Given the description of an element on the screen output the (x, y) to click on. 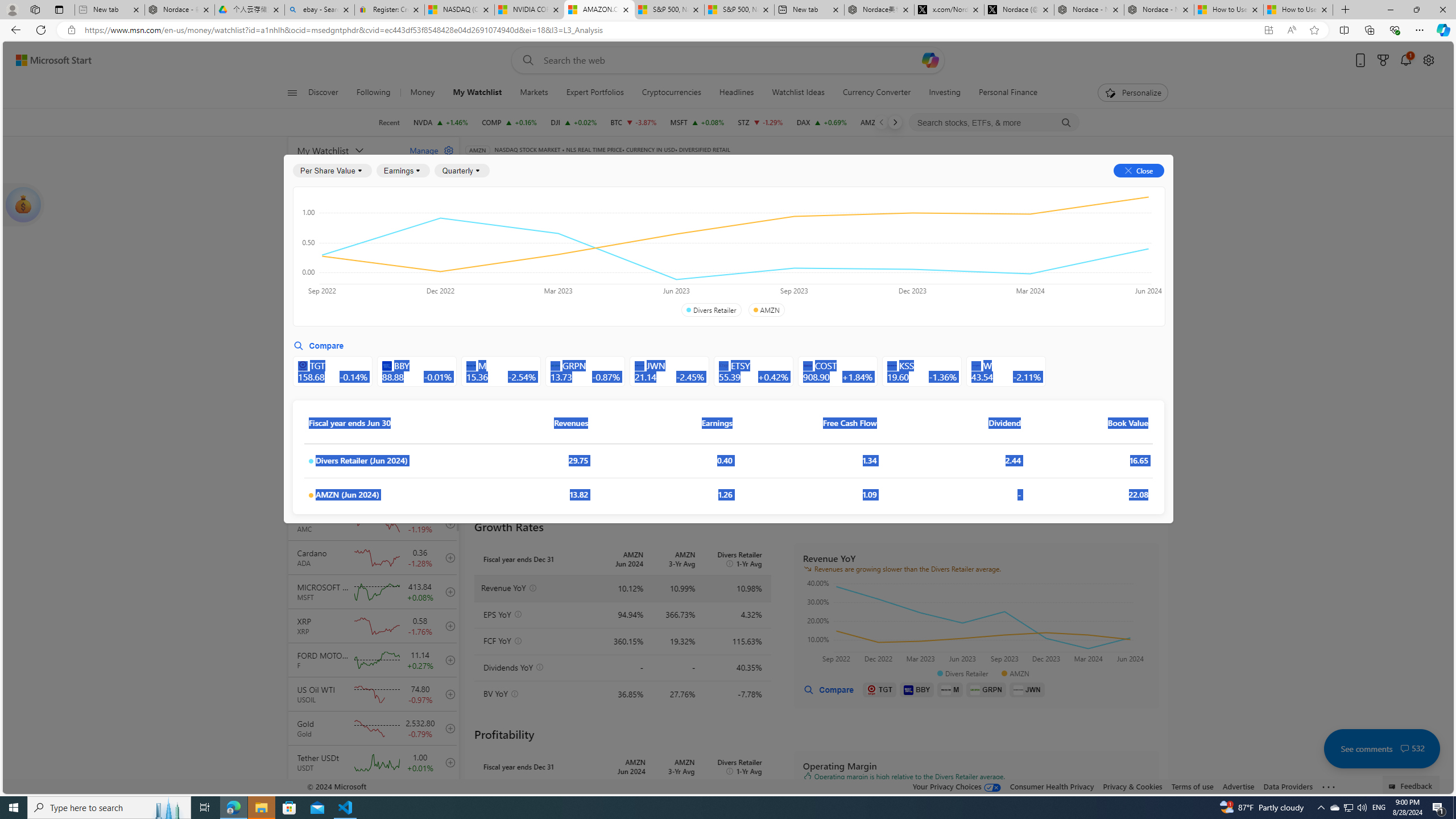
Class: oneFooter_seeMore-DS-EntryPoint1-1 (1328, 786)
Compare (827, 689)
Watchlist (654, 166)
Class: button-glyph (292, 92)
Next (895, 122)
Search stocks, ETFs, & more (995, 122)
BBY (916, 689)
Currency Converter (876, 92)
Personal Finance (1008, 92)
NVDA NVIDIA CORPORATION increase 128.30 +1.84 +1.46% (441, 122)
